Given the description of an element on the screen output the (x, y) to click on. 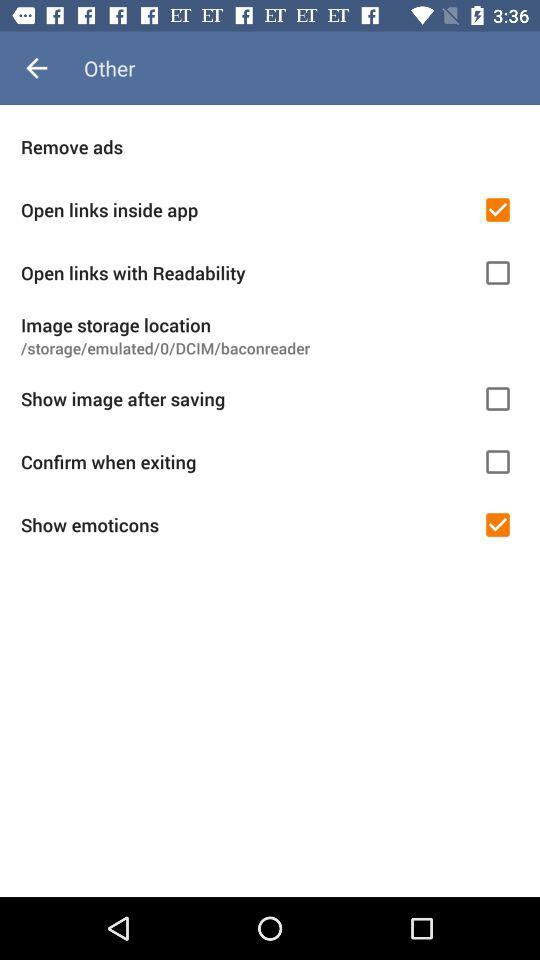
select the remove ads (270, 146)
